Given the description of an element on the screen output the (x, y) to click on. 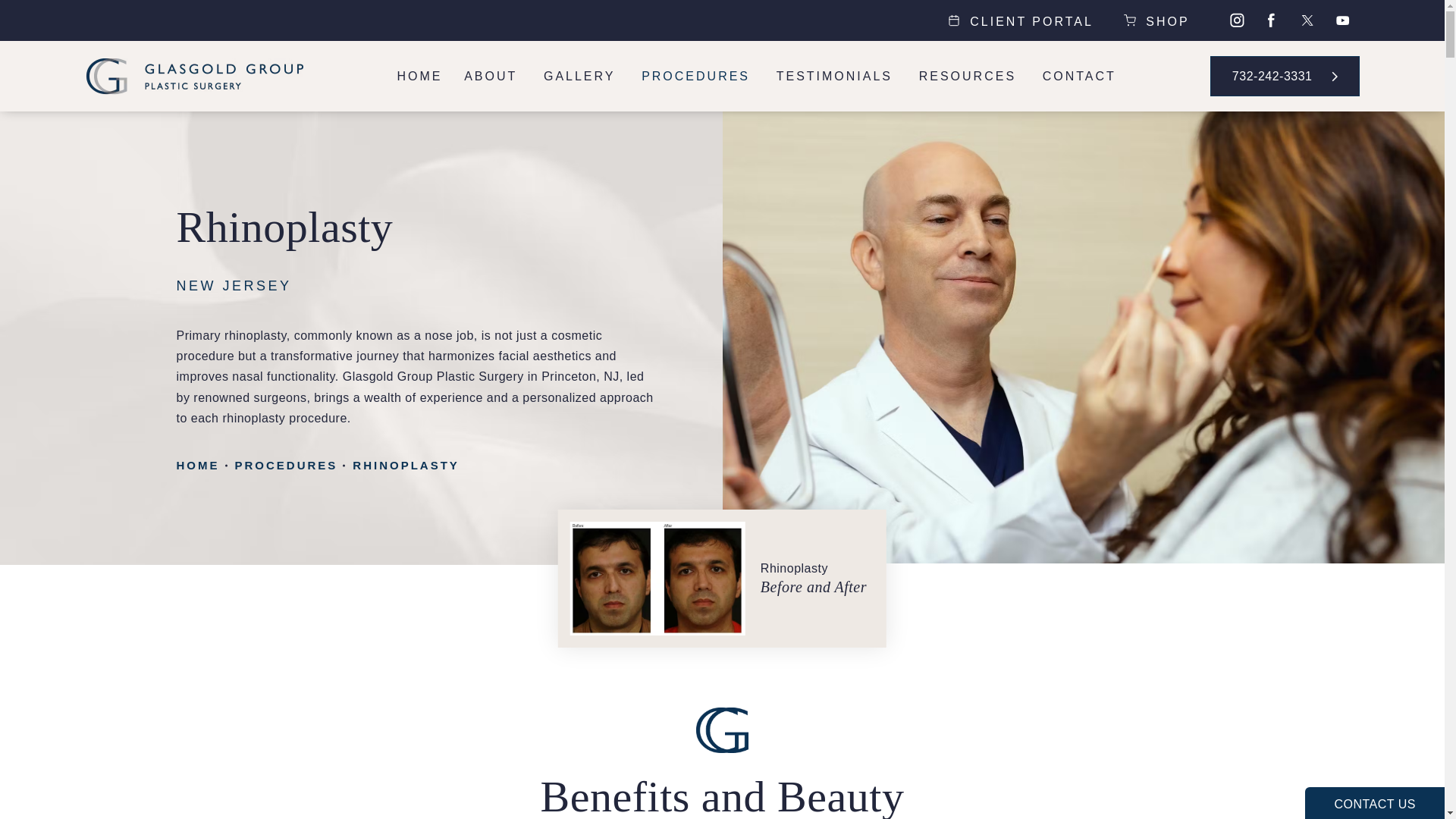
Glasgold Group Plastic Surgery on Facebook (1273, 22)
Glasgold Group Plastic Surgery on Twitter (1309, 22)
Glasgold Group Plastic Surgery on Youtube (1345, 22)
Glasgold Group Plastic Surgery on Instagram (1238, 22)
HOME (419, 76)
GALLERY (581, 76)
ABOUT (493, 76)
